Given the description of an element on the screen output the (x, y) to click on. 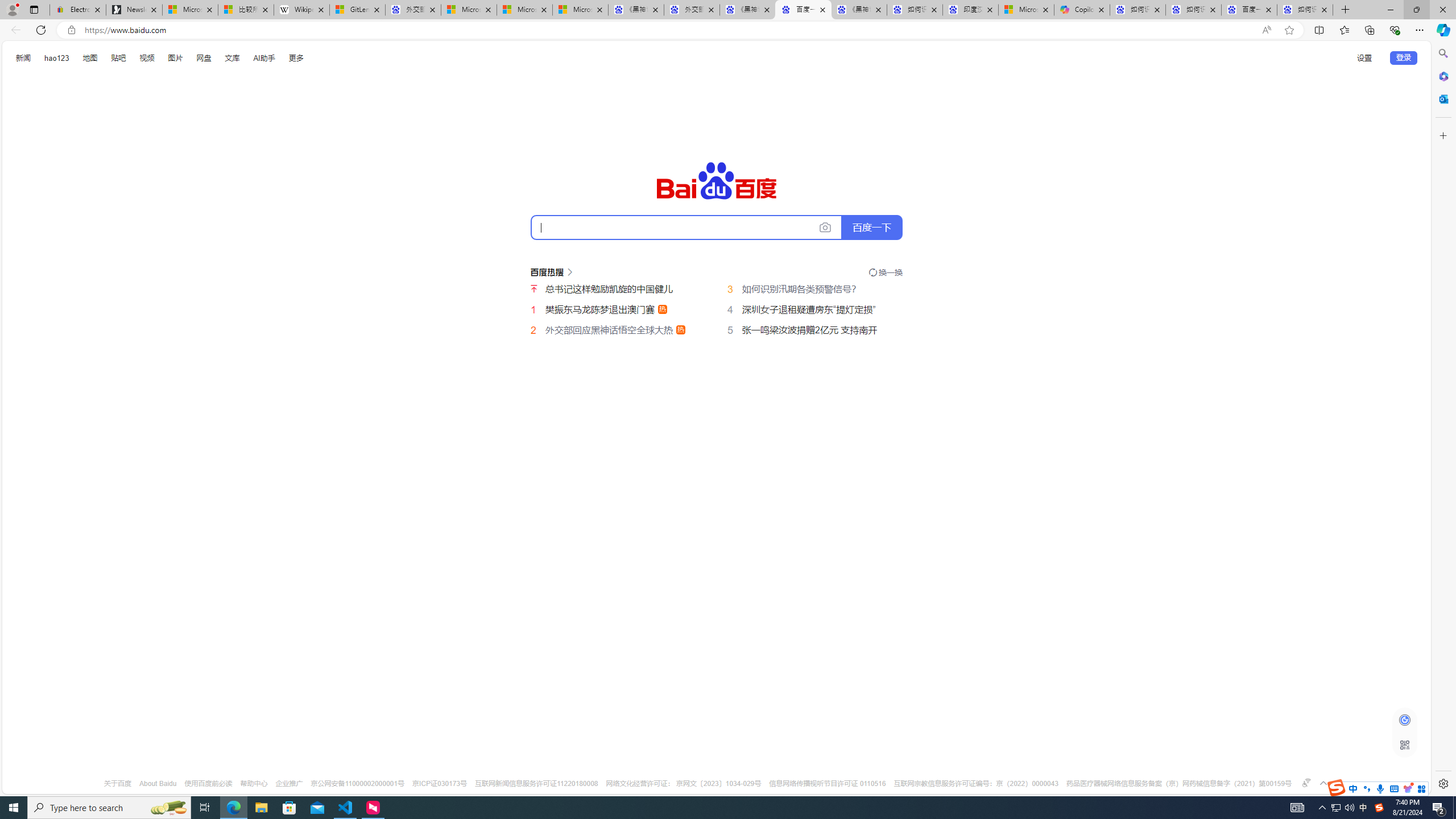
About Baidu (157, 783)
